Given the description of an element on the screen output the (x, y) to click on. 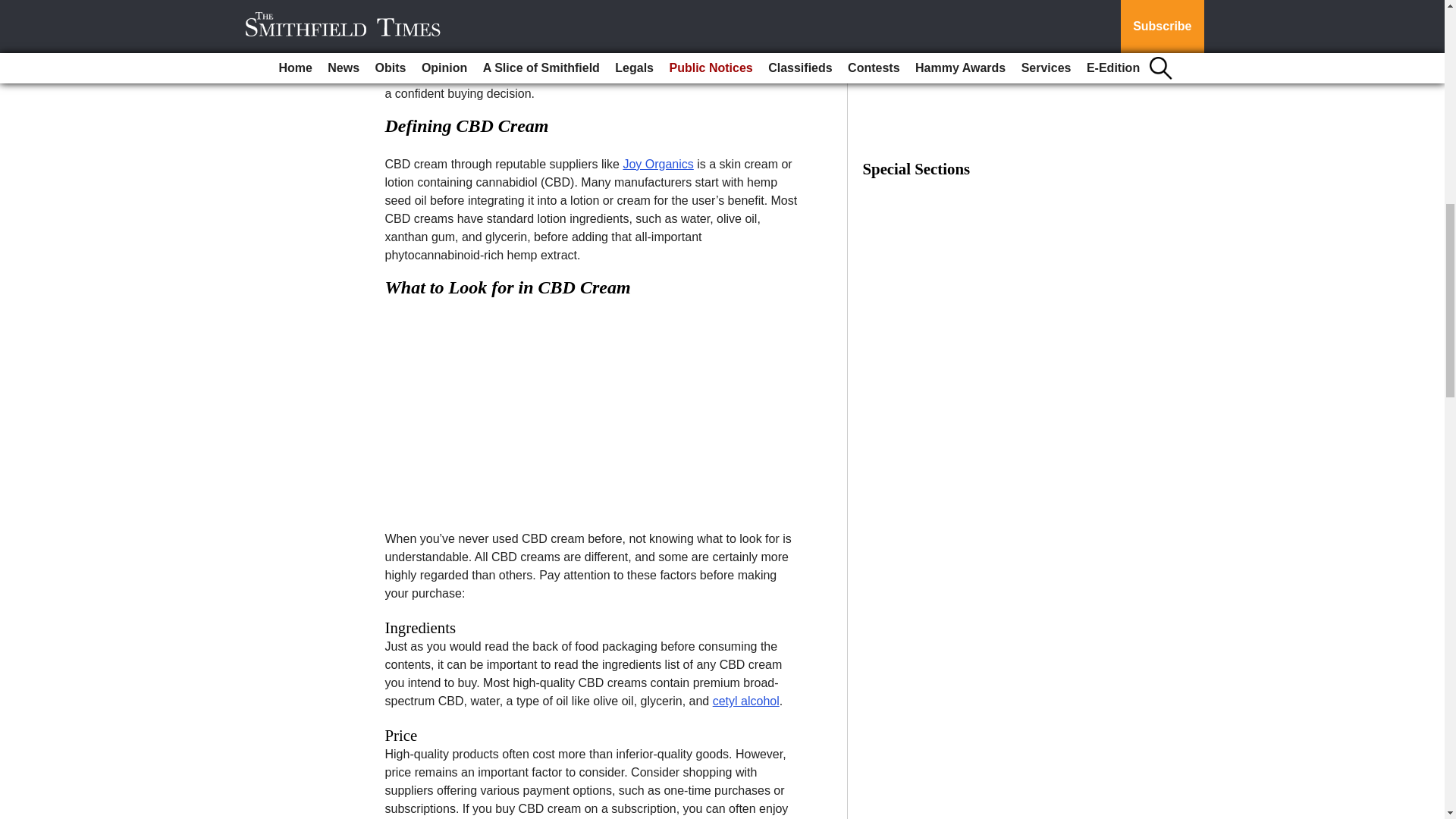
cetyl alcohol (745, 700)
Joy Organics (658, 164)
